Given the description of an element on the screen output the (x, y) to click on. 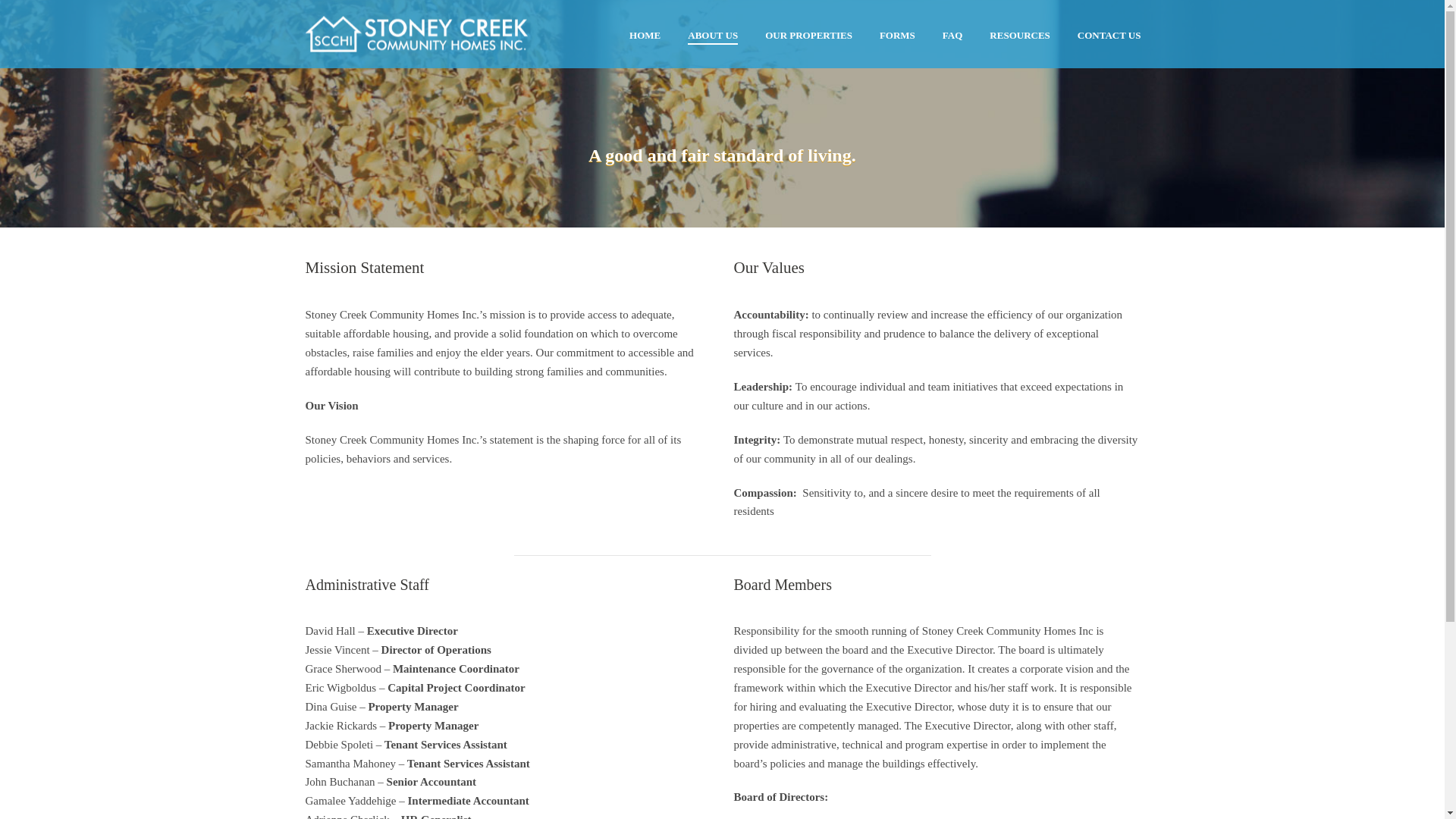
FAQ (951, 35)
FORMS (897, 35)
RESOURCES (1018, 35)
OUR PROPERTIES (808, 35)
HOME (644, 35)
OUR PROPERTIES (808, 35)
RESOURCES (1018, 35)
FAQ (951, 35)
CONTACT US (1109, 35)
HOME (644, 35)
FORMS (897, 35)
ABOUT US (712, 35)
CONTACT US (1109, 35)
ABOUT US (712, 35)
